Given the description of an element on the screen output the (x, y) to click on. 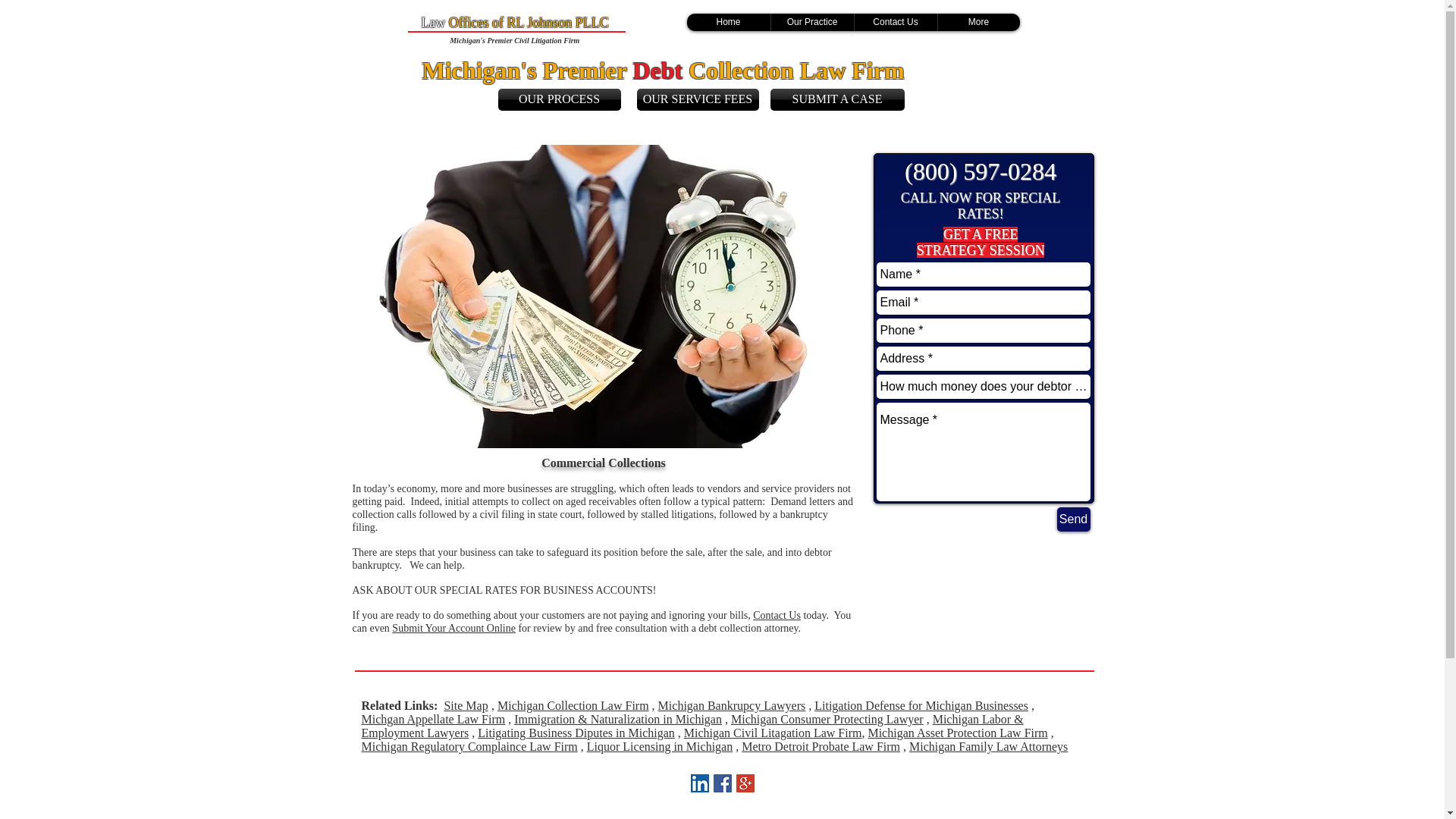
of RL (508, 22)
Our Practice (811, 22)
Law Offices (453, 22)
Contact Us (895, 22)
Johnson PLLC (567, 22)
Home (728, 22)
